Given the description of an element on the screen output the (x, y) to click on. 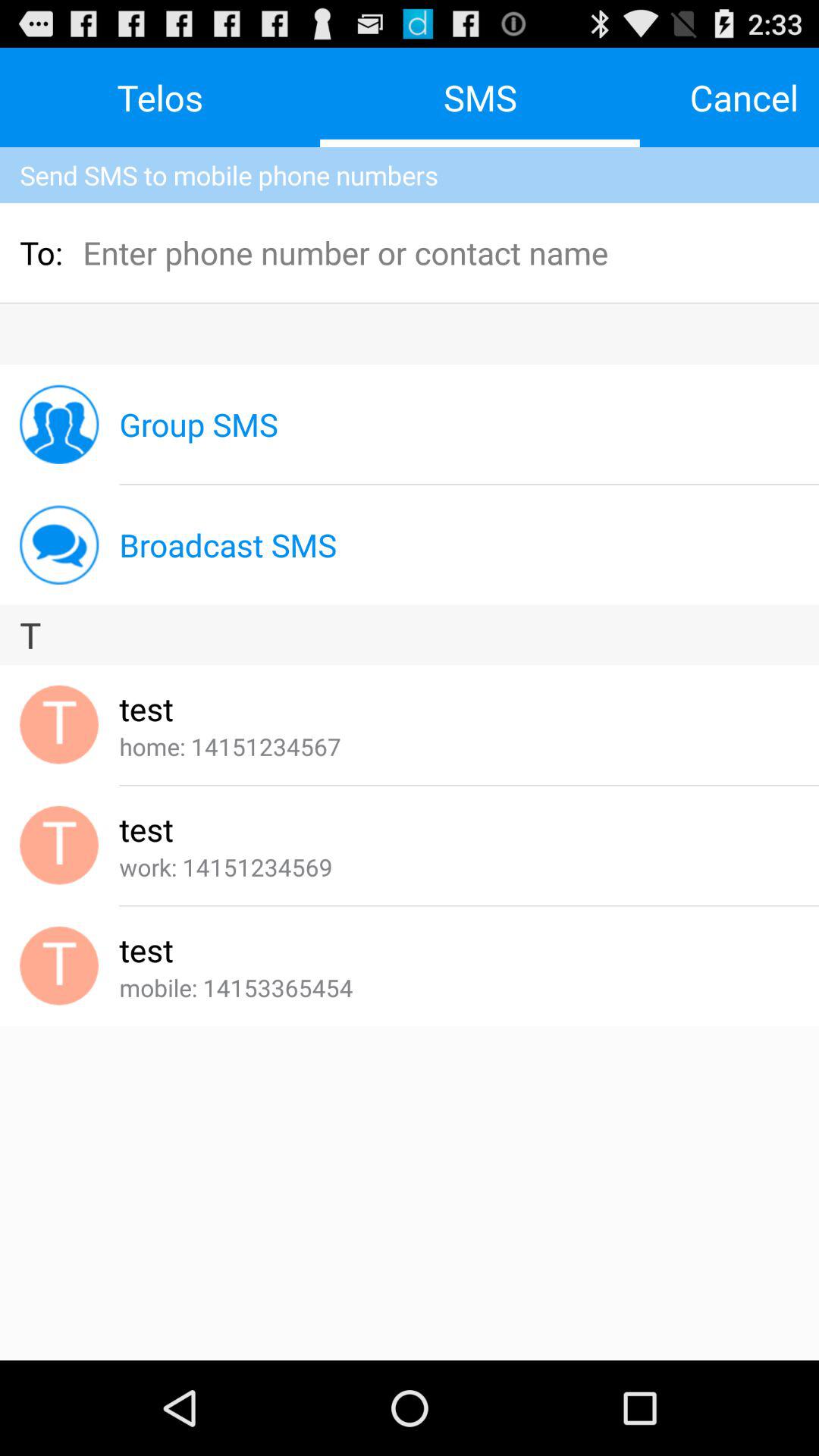
launch app next to the to: app (183, 252)
